Given the description of an element on the screen output the (x, y) to click on. 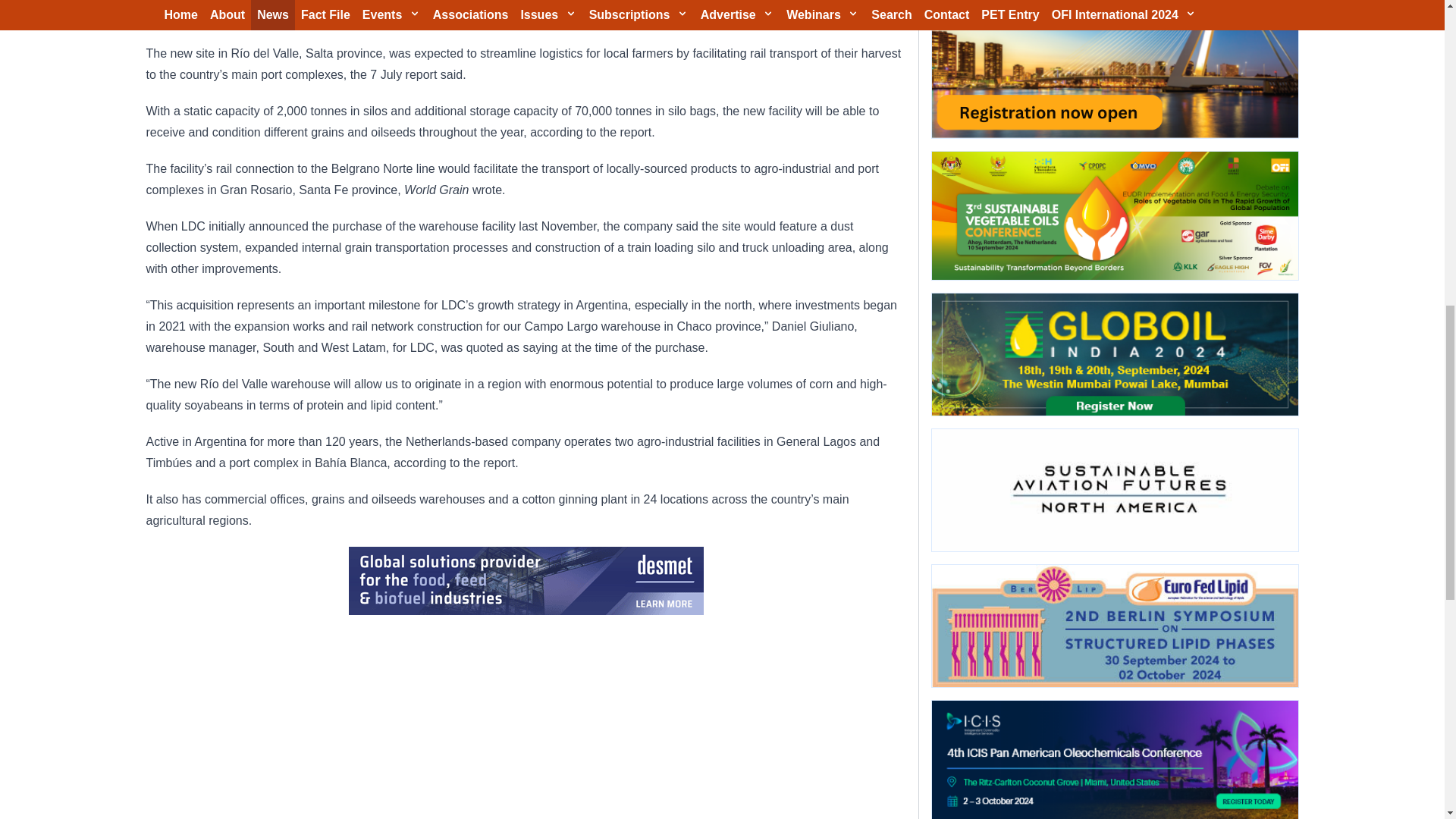
Sustainable Aviation Futures North America Congress (1114, 490)
Desmet 2022-4 footer banner (525, 581)
OFI International 2024 (1114, 69)
2nd Berlin Symposium 2024 (1114, 626)
Globoil 2024 (1114, 354)
3rd Sustainable Vegetable Oil Conference (1114, 215)
ICIS Pan American Oleochemicals Conference (1114, 760)
